Given the description of an element on the screen output the (x, y) to click on. 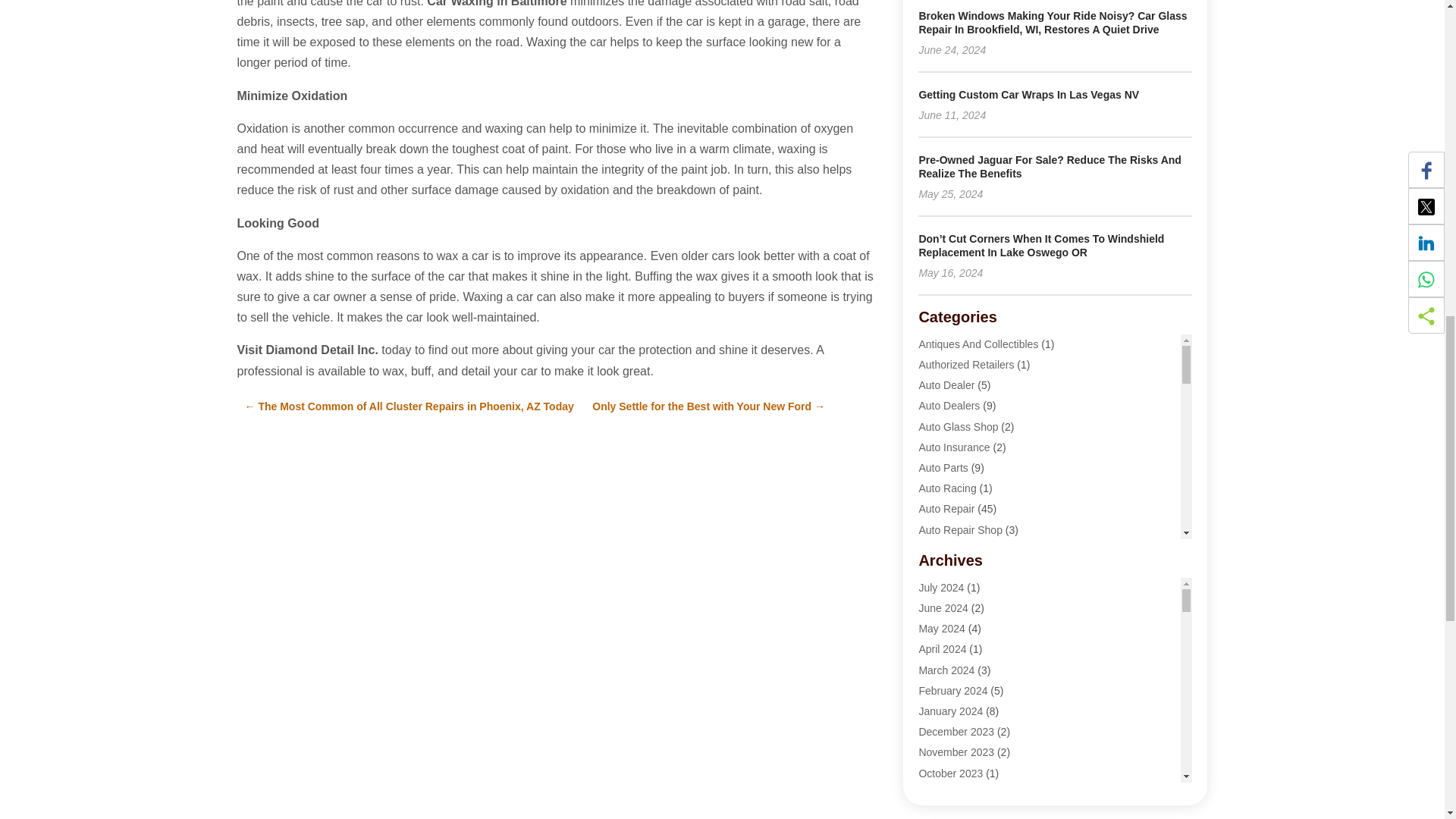
Auto Racing (946, 488)
Getting Custom Car Wraps In Las Vegas NV (1028, 94)
Auto Parts (943, 467)
Auto Glass Shop (957, 426)
Auto Insurance (954, 447)
Auto Dealers (948, 405)
Auto Repair Shop (960, 530)
Best Vehicle (947, 633)
Auto Dealer (946, 385)
Authorized Retailers (965, 364)
Automobile Maintenance (976, 550)
Autos (931, 612)
Auto Repair (946, 508)
